Given the description of an element on the screen output the (x, y) to click on. 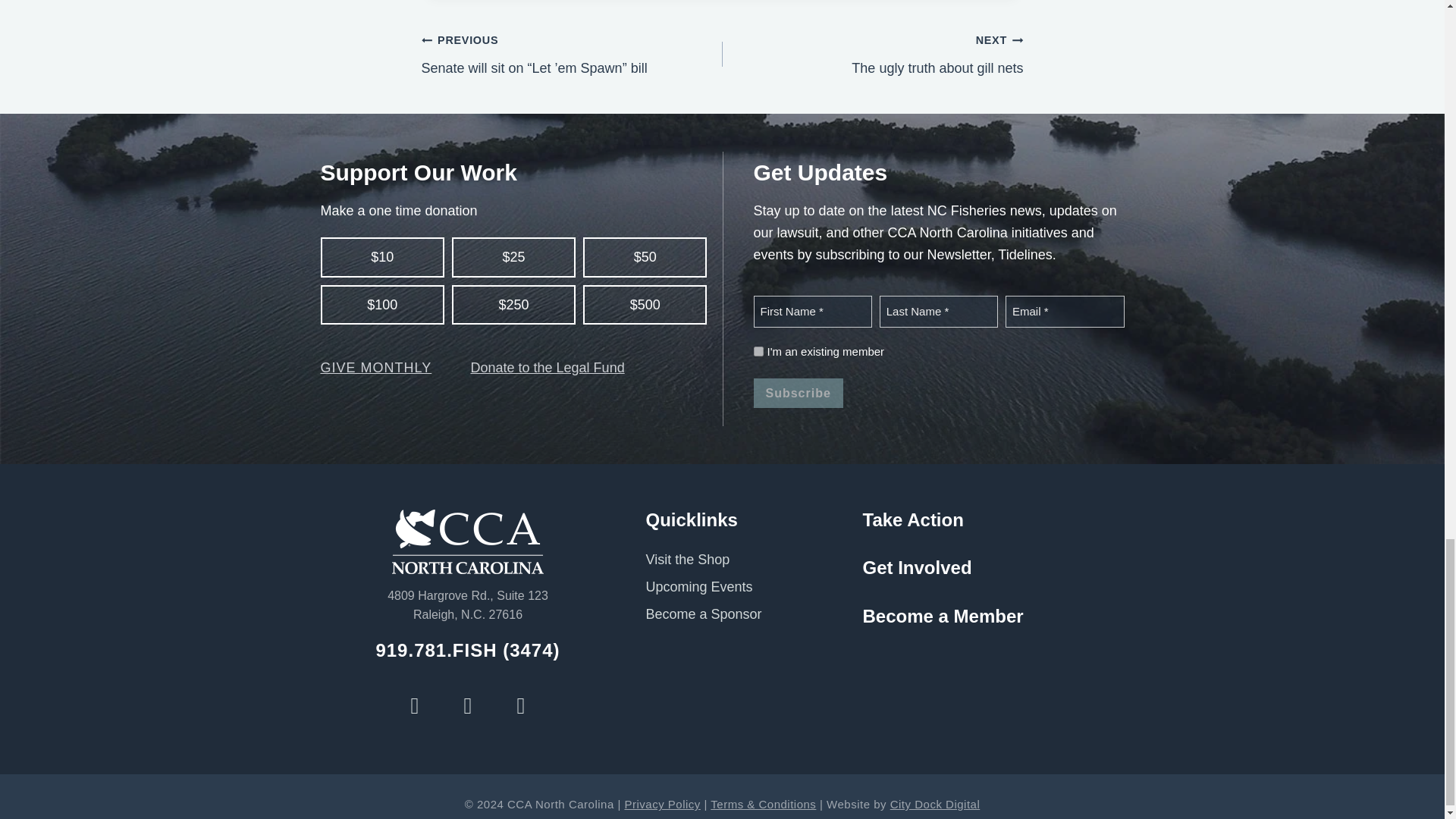
Instagram (467, 705)
logo-ccanc (467, 541)
Become a Member (943, 616)
Take Action (913, 519)
Subscribe (798, 392)
YouTube (520, 705)
I'm an existing member (758, 351)
Get Involved (917, 567)
Facebook (414, 705)
